Given the description of an element on the screen output the (x, y) to click on. 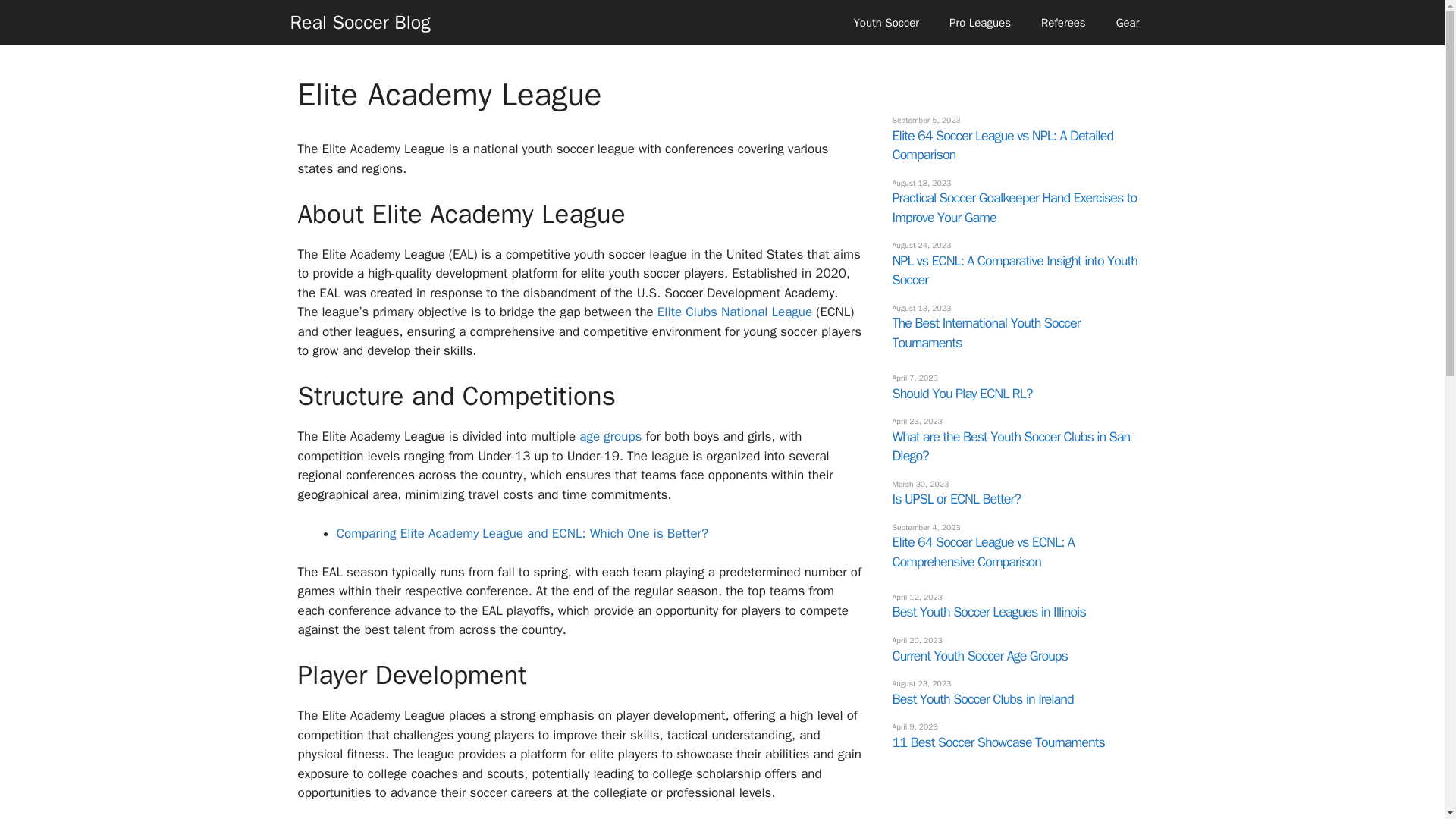
NPL vs ECNL: A Comparative Insight into Youth Soccer (1014, 270)
Current Youth Soccer Age Groups (979, 655)
Referees (1063, 22)
Best Youth Soccer Leagues in Illinois (987, 611)
Youth Soccer (886, 22)
Should You Play ECNL RL? (961, 393)
Elite Clubs National League (735, 311)
Real Soccer Blog (359, 22)
Gear (1127, 22)
Elite 64 Soccer League vs NPL: A Detailed Comparison (1002, 145)
What are the Best Youth Soccer Clubs in San Diego? (1010, 446)
Pro Leagues (980, 22)
Is UPSL or ECNL Better? (955, 498)
